Given the description of an element on the screen output the (x, y) to click on. 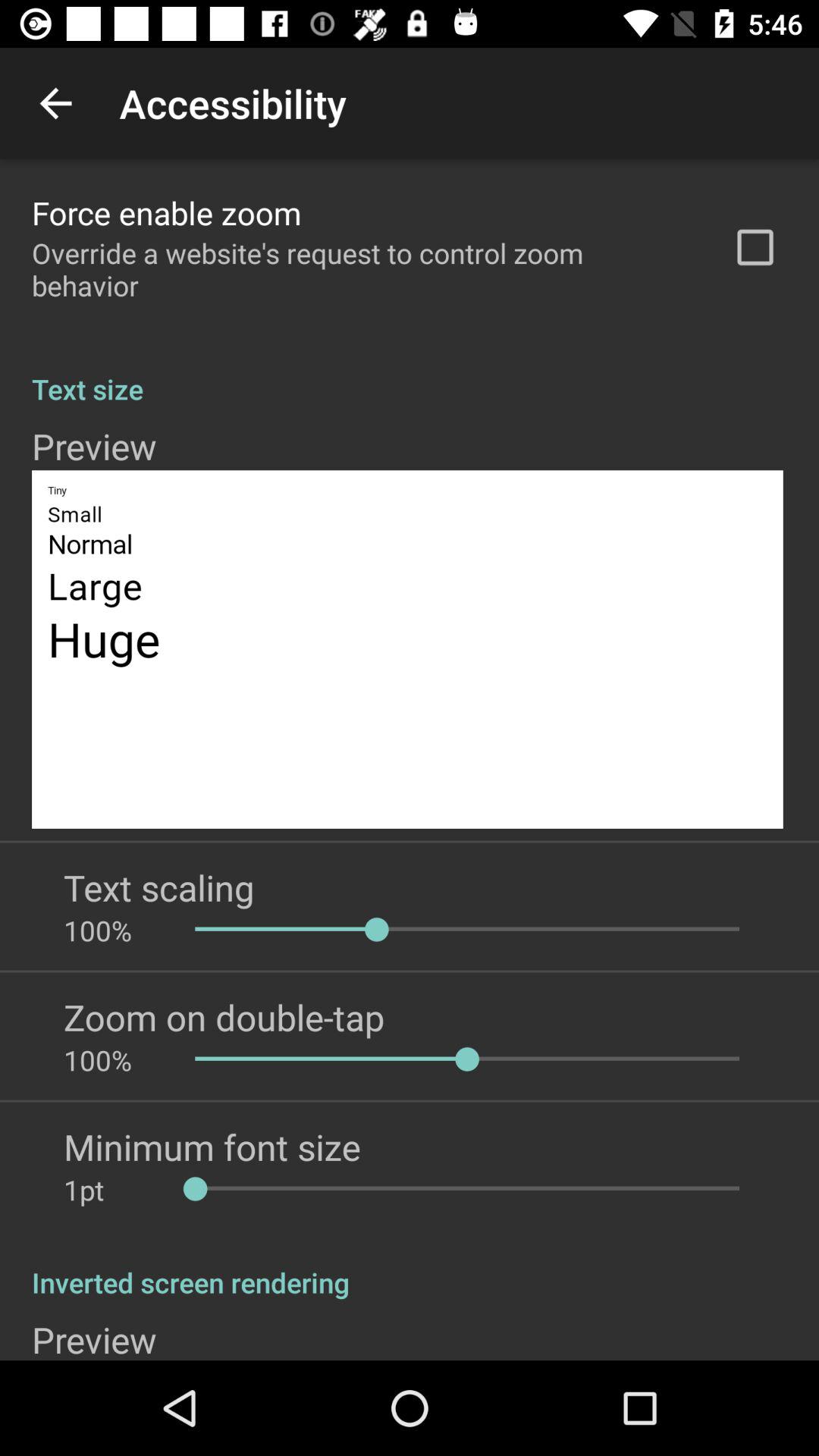
launch the icon next to the accessibility (55, 103)
